Given the description of an element on the screen output the (x, y) to click on. 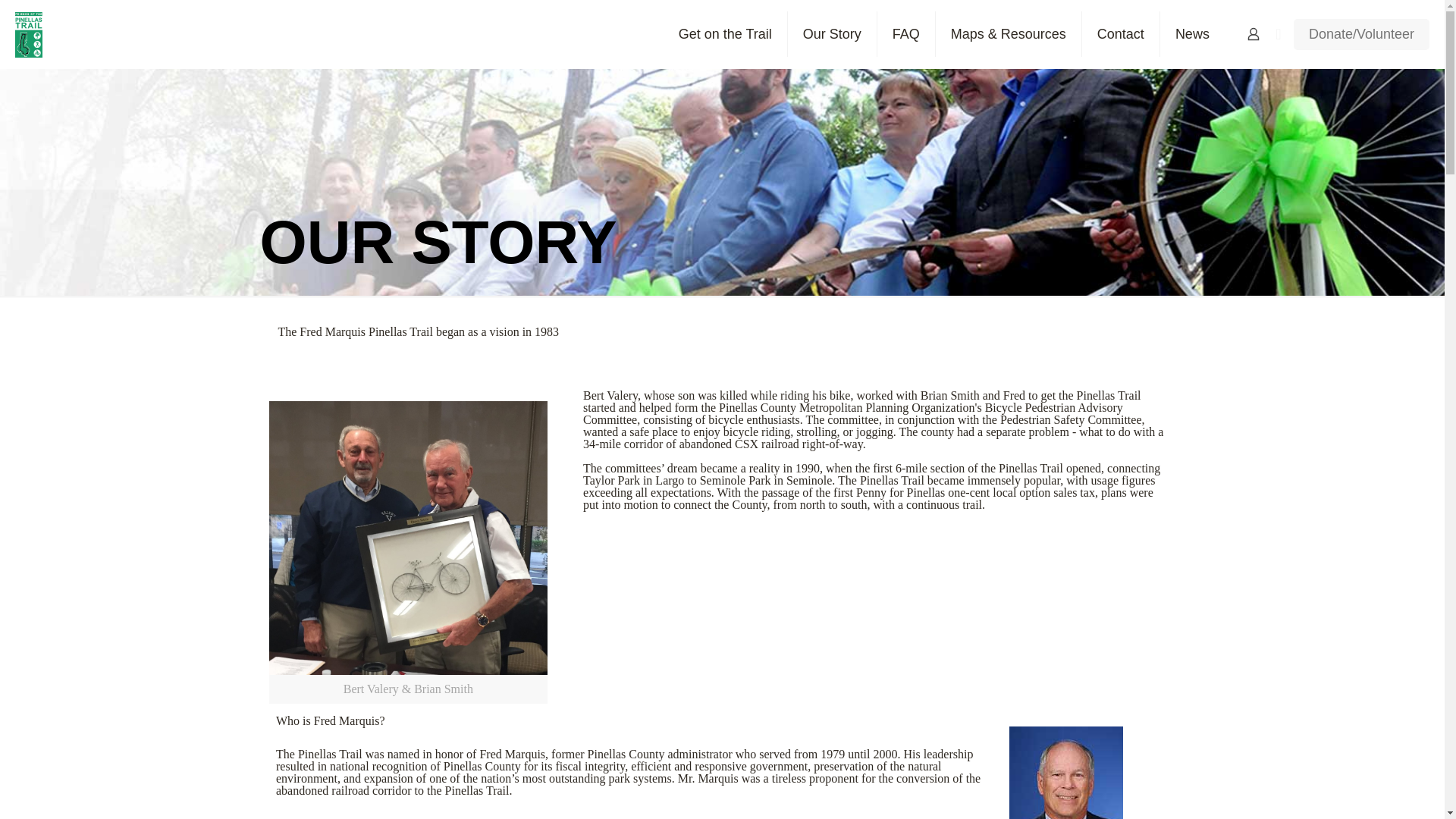
News (1192, 33)
Contact (1120, 33)
Our Story (832, 33)
Get on the Trail (725, 33)
